Given the description of an element on the screen output the (x, y) to click on. 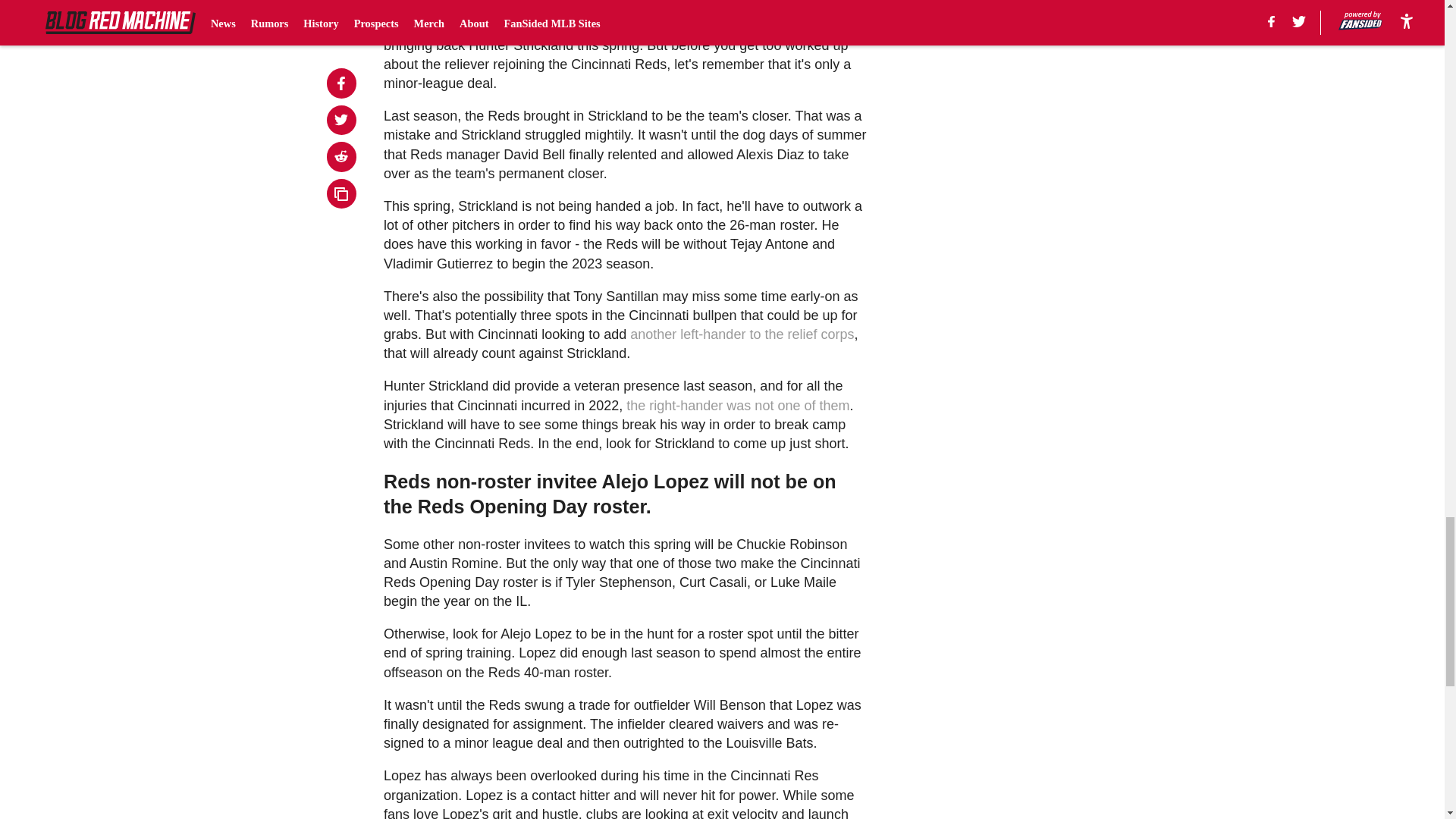
the right-hander was not one of them (737, 405)
another left-hander to the relief corps (741, 334)
